Given the description of an element on the screen output the (x, y) to click on. 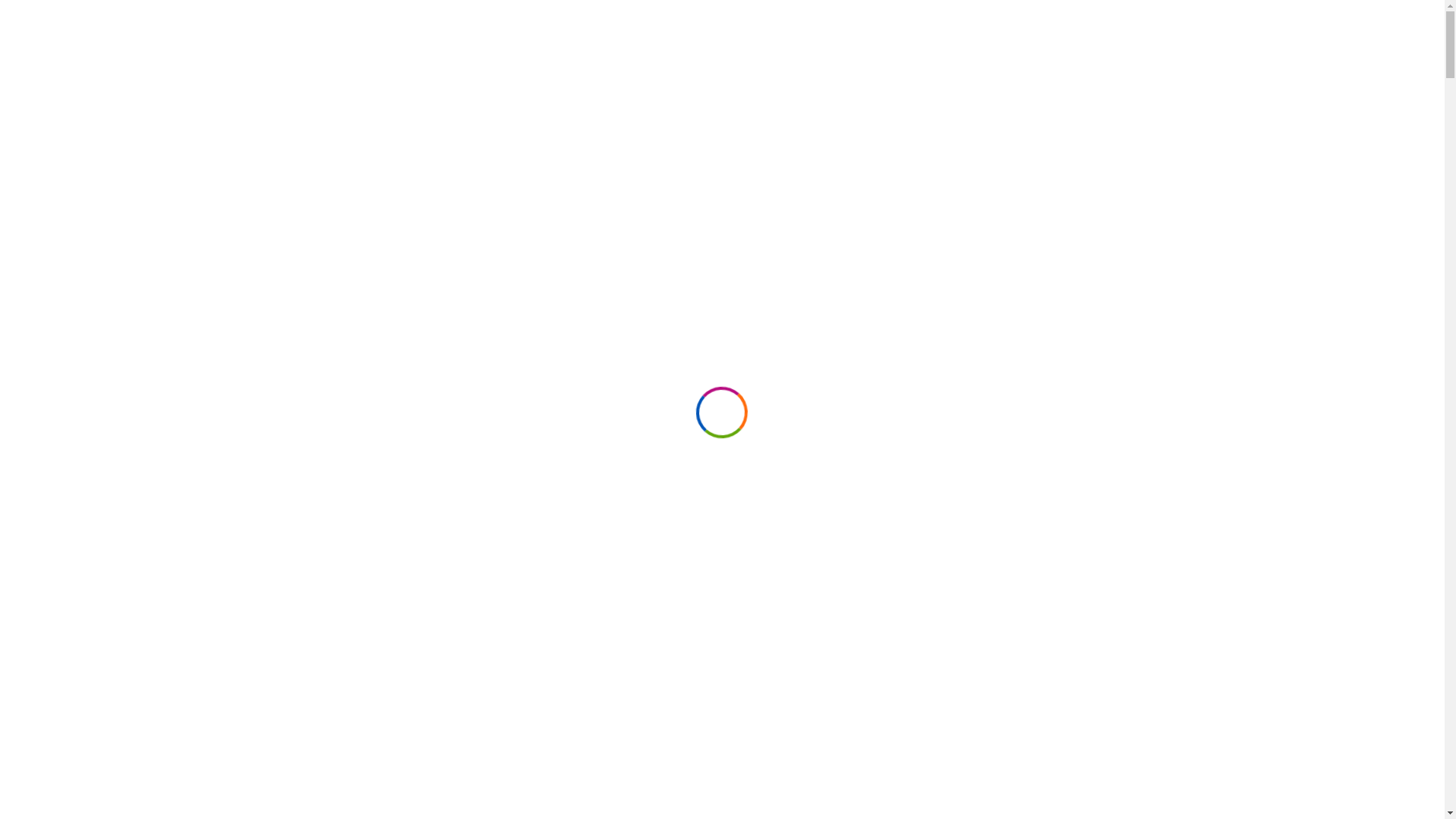
Be Circular be.brussels Element type: text (1090, 597)
